Given the description of an element on the screen output the (x, y) to click on. 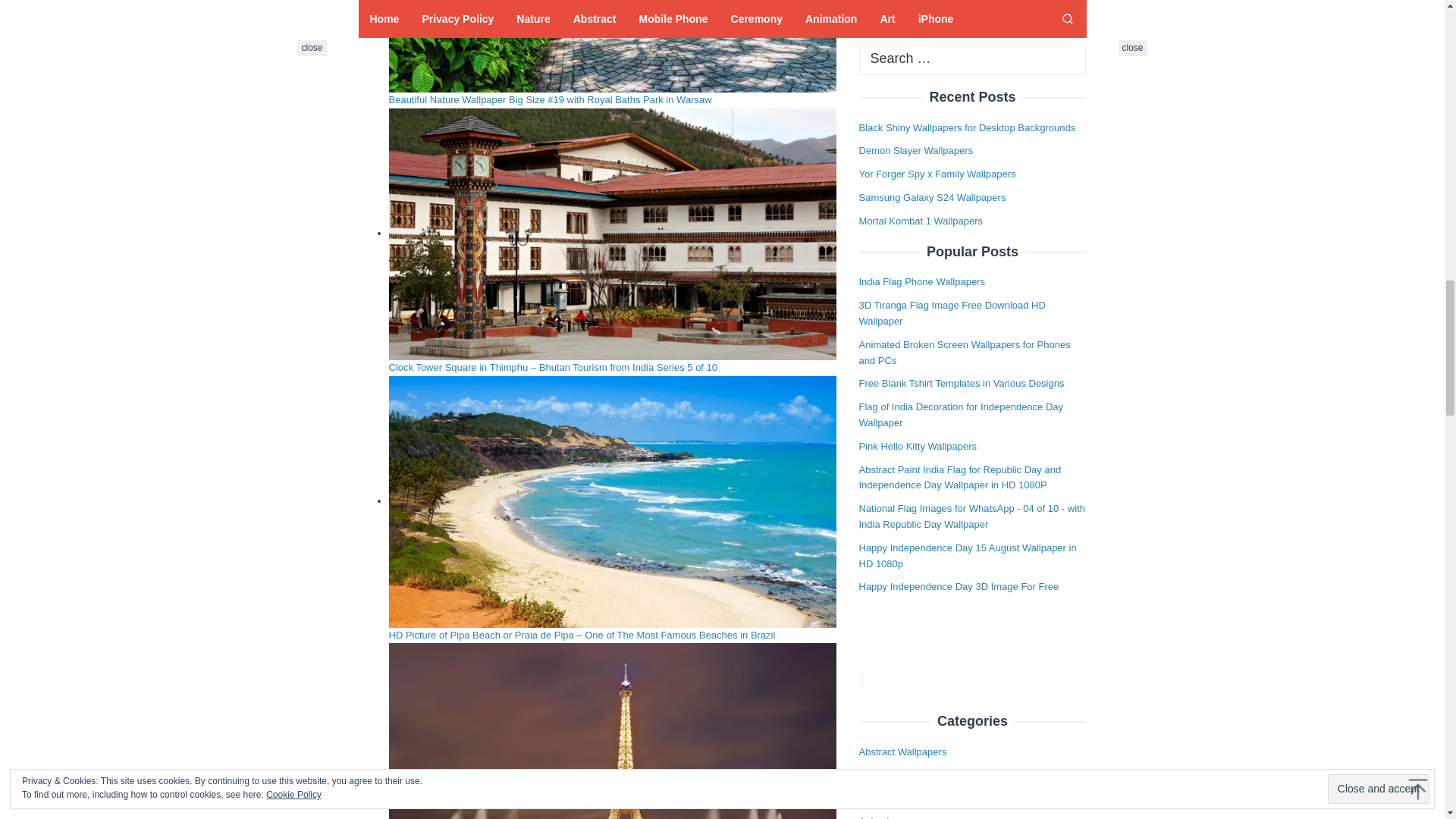
Bhutan clock tower square (611, 234)
Eiffel Tower Paris at night view (611, 730)
